Given the description of an element on the screen output the (x, y) to click on. 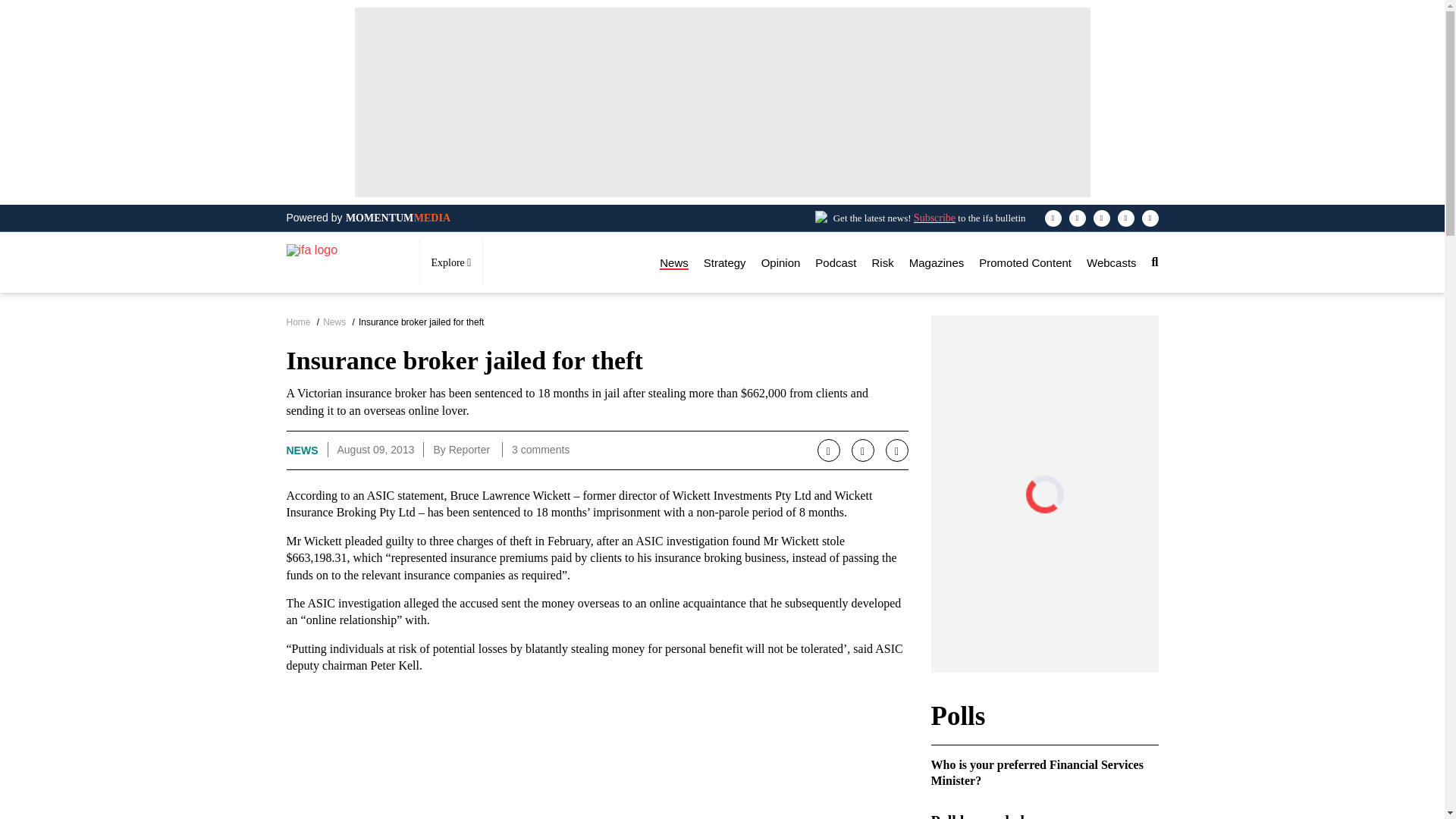
Powered by MOMENTUM MEDIA (368, 217)
Webcasts (1111, 261)
Magazines (935, 261)
Risk (882, 261)
Subscribe (934, 217)
News (673, 262)
Promoted Content (1024, 261)
Opinion (780, 261)
Podcast (835, 261)
Strategy (724, 261)
